Given the description of an element on the screen output the (x, y) to click on. 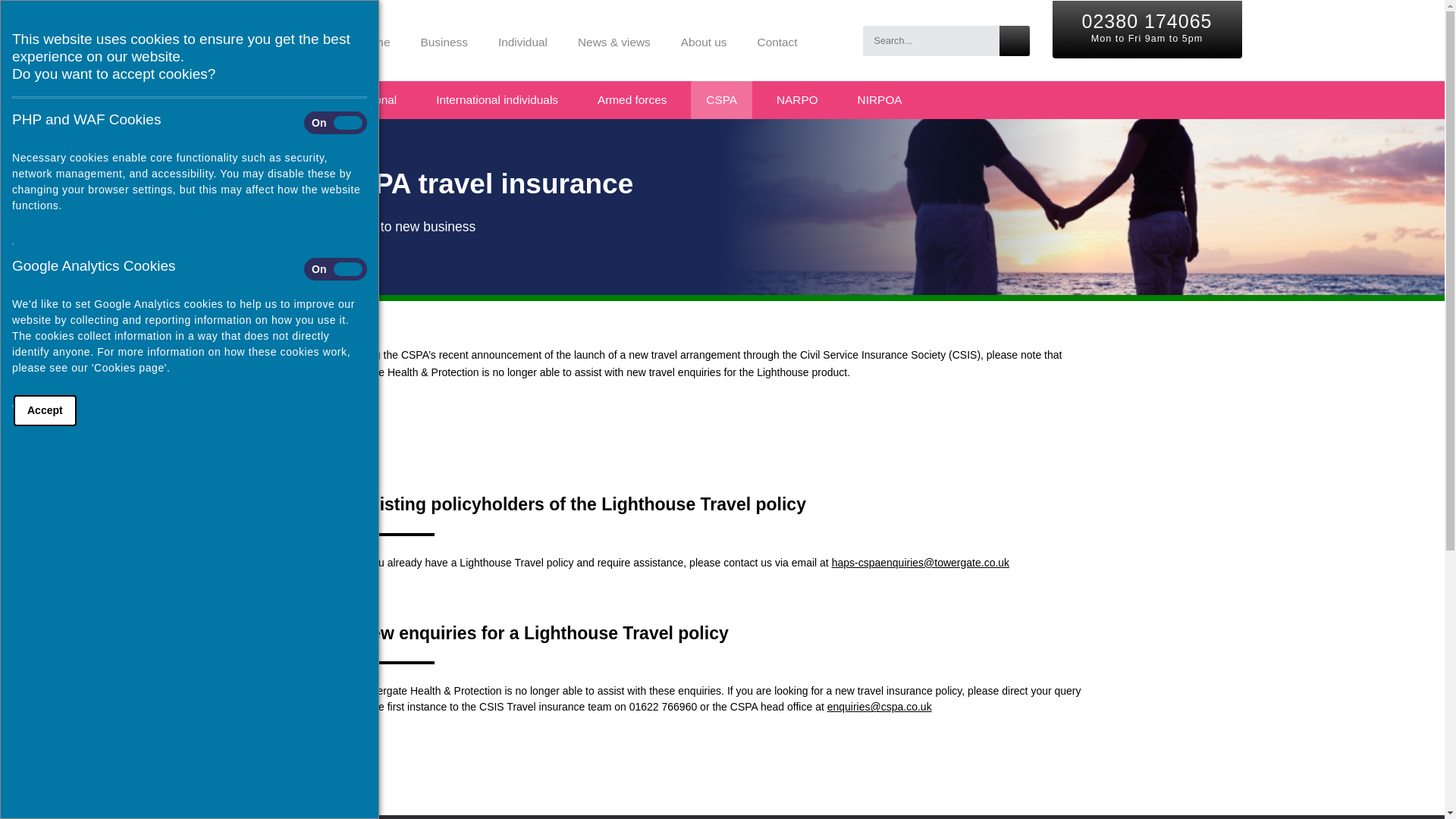
Home (373, 39)
Call our team of experts today! (1146, 20)
Individual (522, 39)
Business (442, 39)
